Given the description of an element on the screen output the (x, y) to click on. 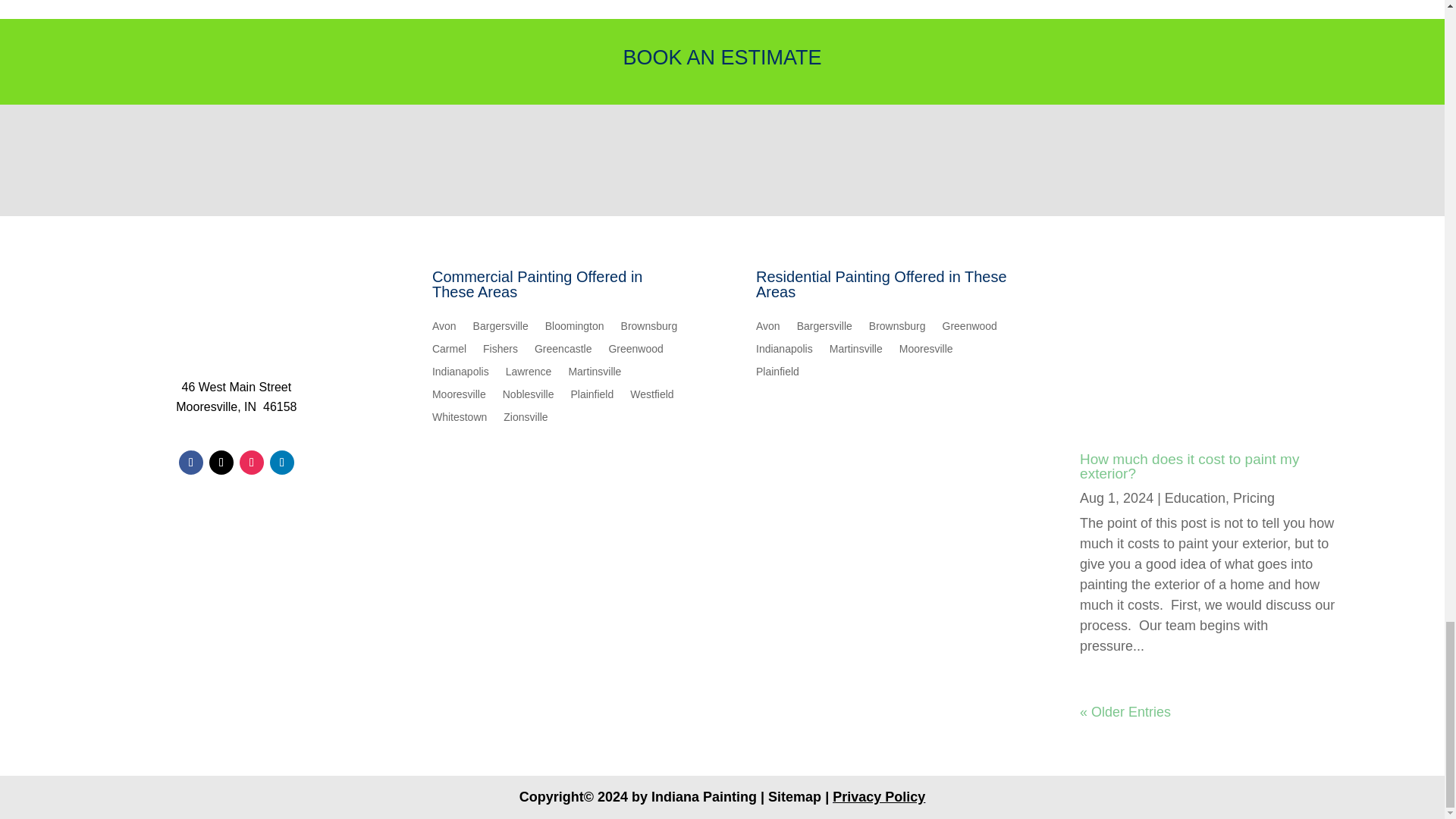
Avon (444, 329)
Indiana Painting (236, 329)
Bargersville (500, 329)
Follow on Instagram (251, 462)
Follow on Facebook (191, 462)
Follow on LinkedIn (281, 462)
Bloomington (574, 329)
Follow on X (220, 462)
Brownsburg (649, 329)
Carmel (448, 351)
